Given the description of an element on the screen output the (x, y) to click on. 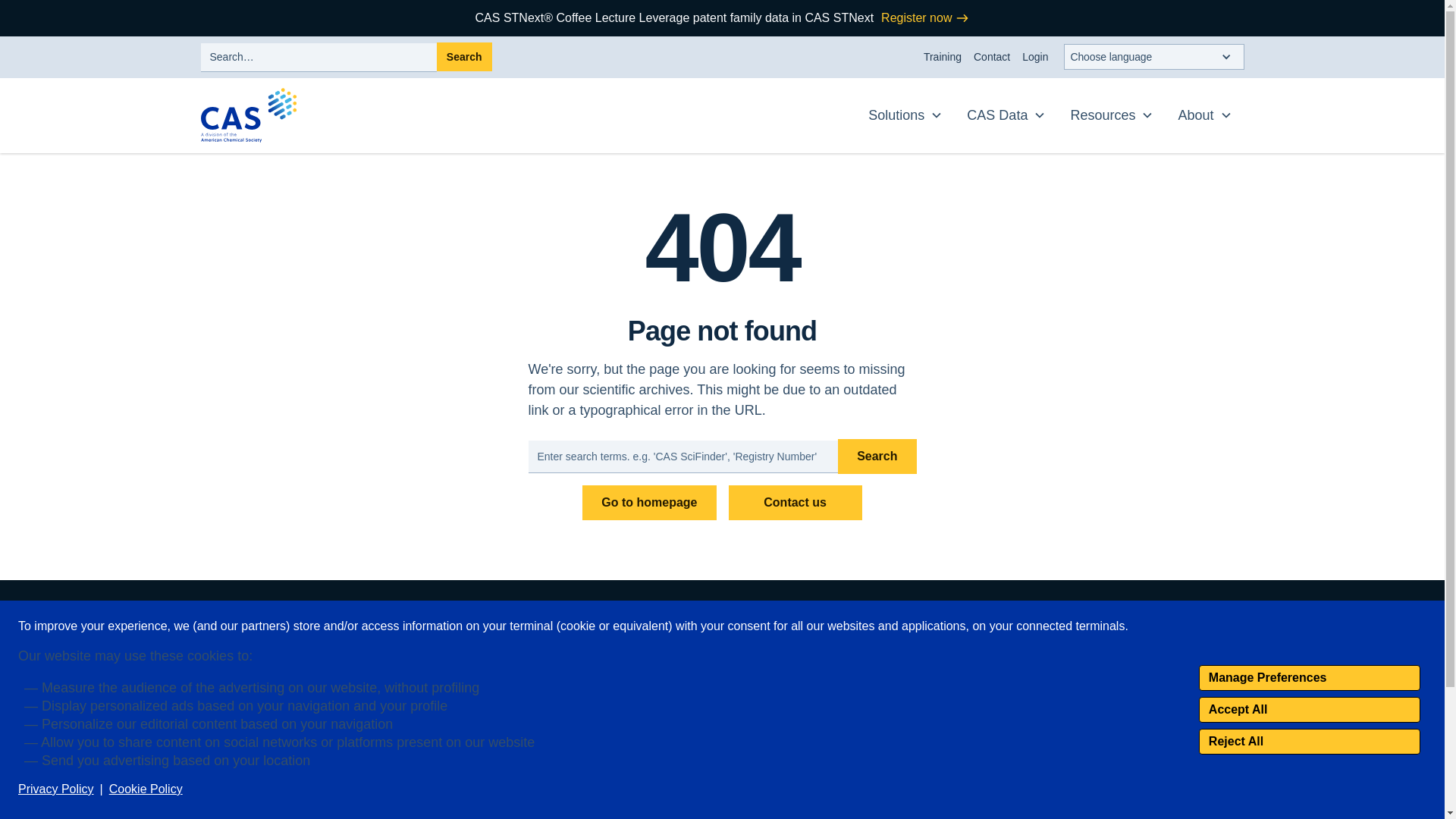
Login (1035, 57)
Search (464, 56)
Search (876, 456)
Search (464, 56)
Reject All (1309, 741)
Contact (992, 57)
Training (942, 57)
Cookie Policy (146, 789)
Privacy Policy (55, 789)
Manage Preferences (1309, 678)
Register now (924, 18)
Search (876, 456)
Search (464, 56)
Accept All (1309, 709)
